Given the description of an element on the screen output the (x, y) to click on. 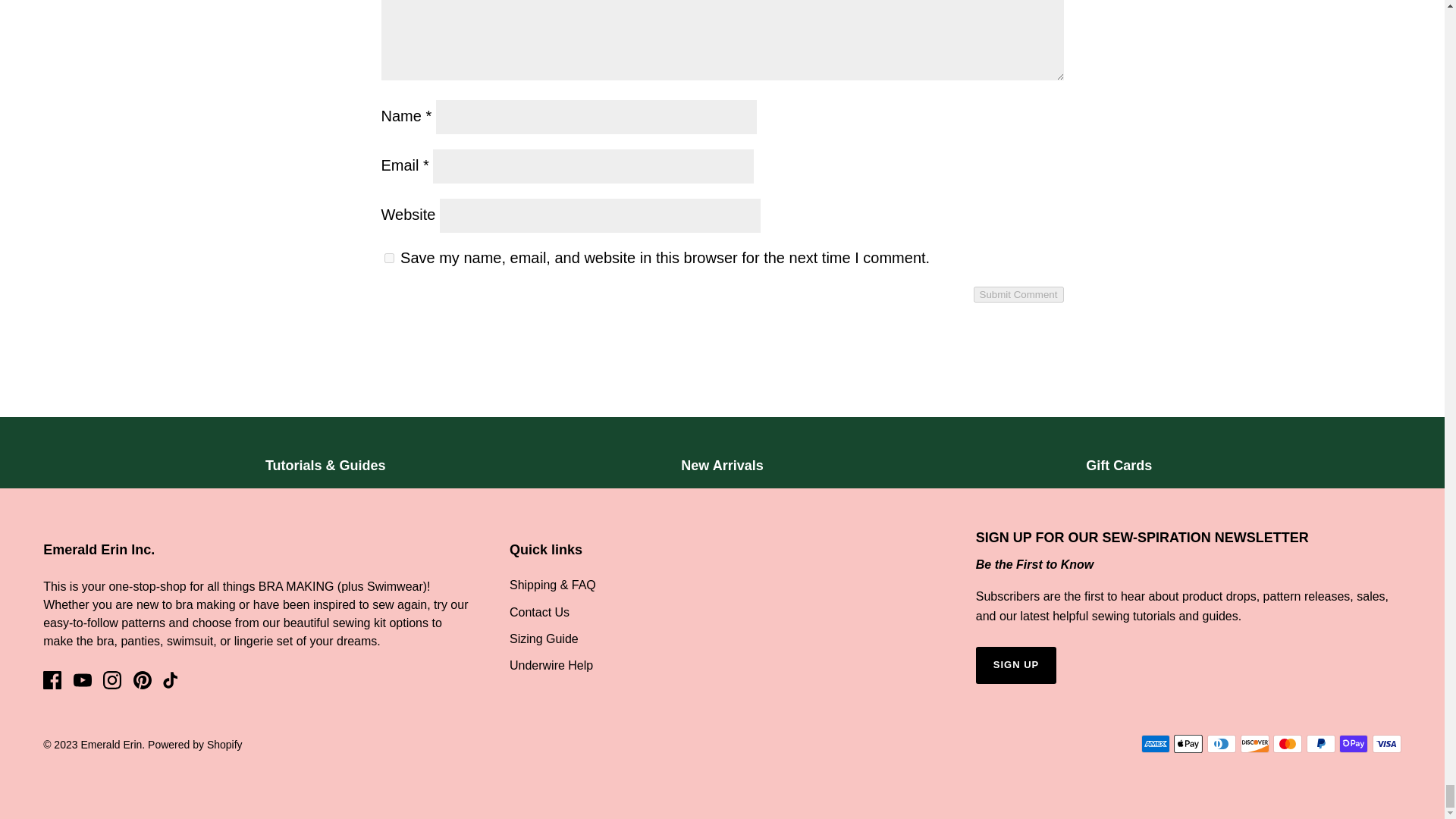
Youtube (82, 679)
Facebook (52, 679)
Mastercard (1286, 743)
Shop Pay (1353, 743)
American Express (1155, 743)
Pinterest (142, 679)
Visa (1386, 743)
Diners Club (1221, 743)
Discover (1254, 743)
Apple Pay (1187, 743)
